Given the description of an element on the screen output the (x, y) to click on. 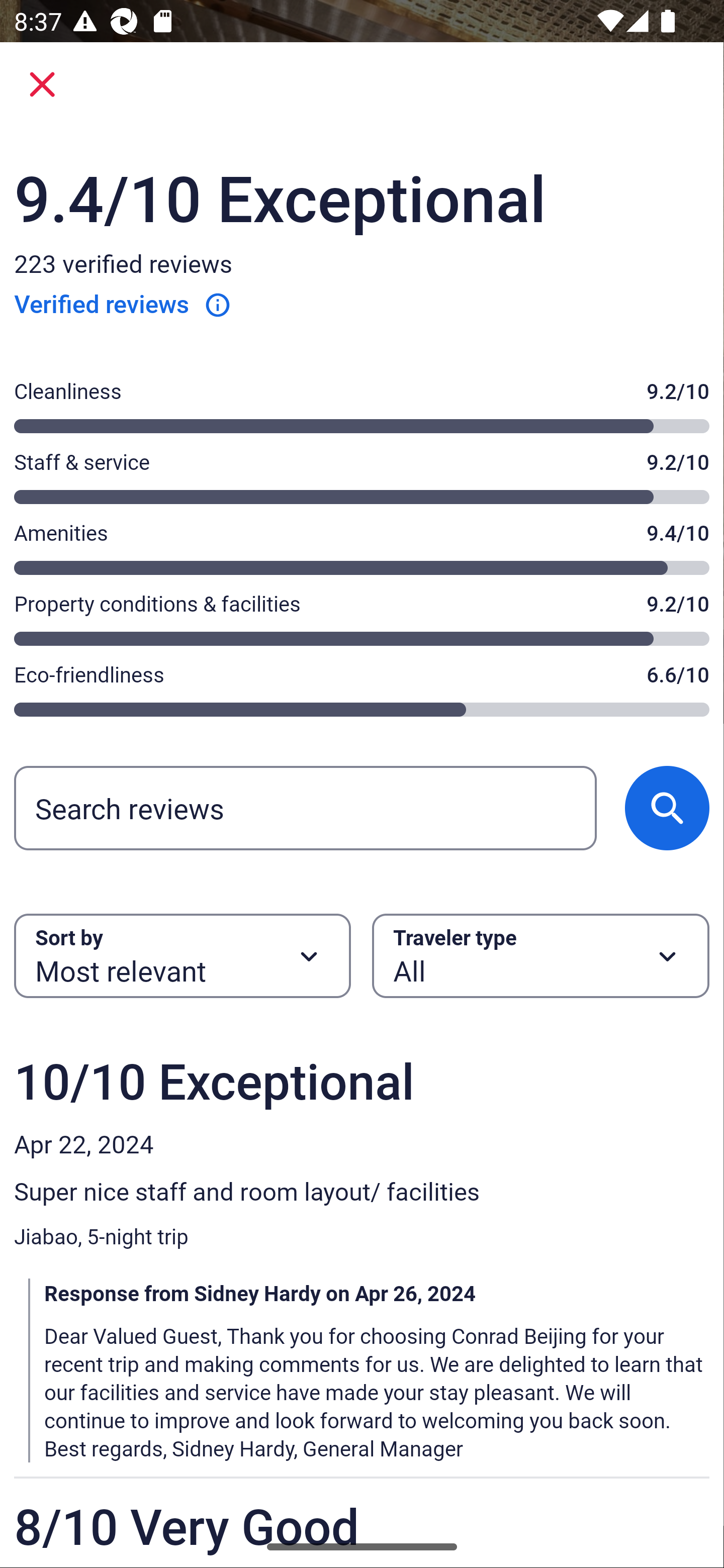
Close (42, 84)
Verified reviews (122, 303)
Search reviews (304, 807)
Search reviews button (666, 807)
Sort by Button Most relevant (182, 956)
Traveler type Button All (540, 956)
